Given the description of an element on the screen output the (x, y) to click on. 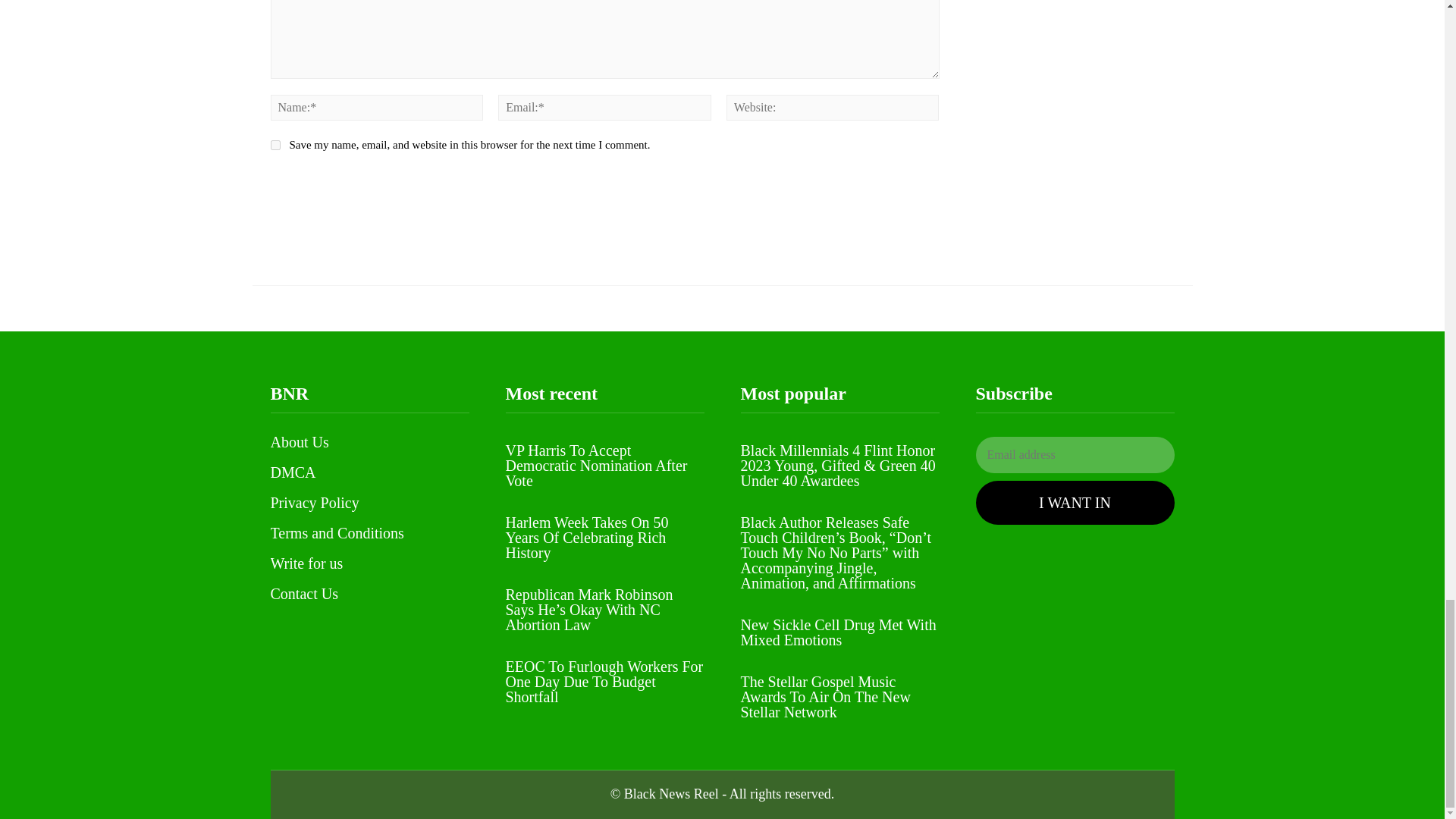
Post Comment (338, 185)
yes (274, 144)
